Given the description of an element on the screen output the (x, y) to click on. 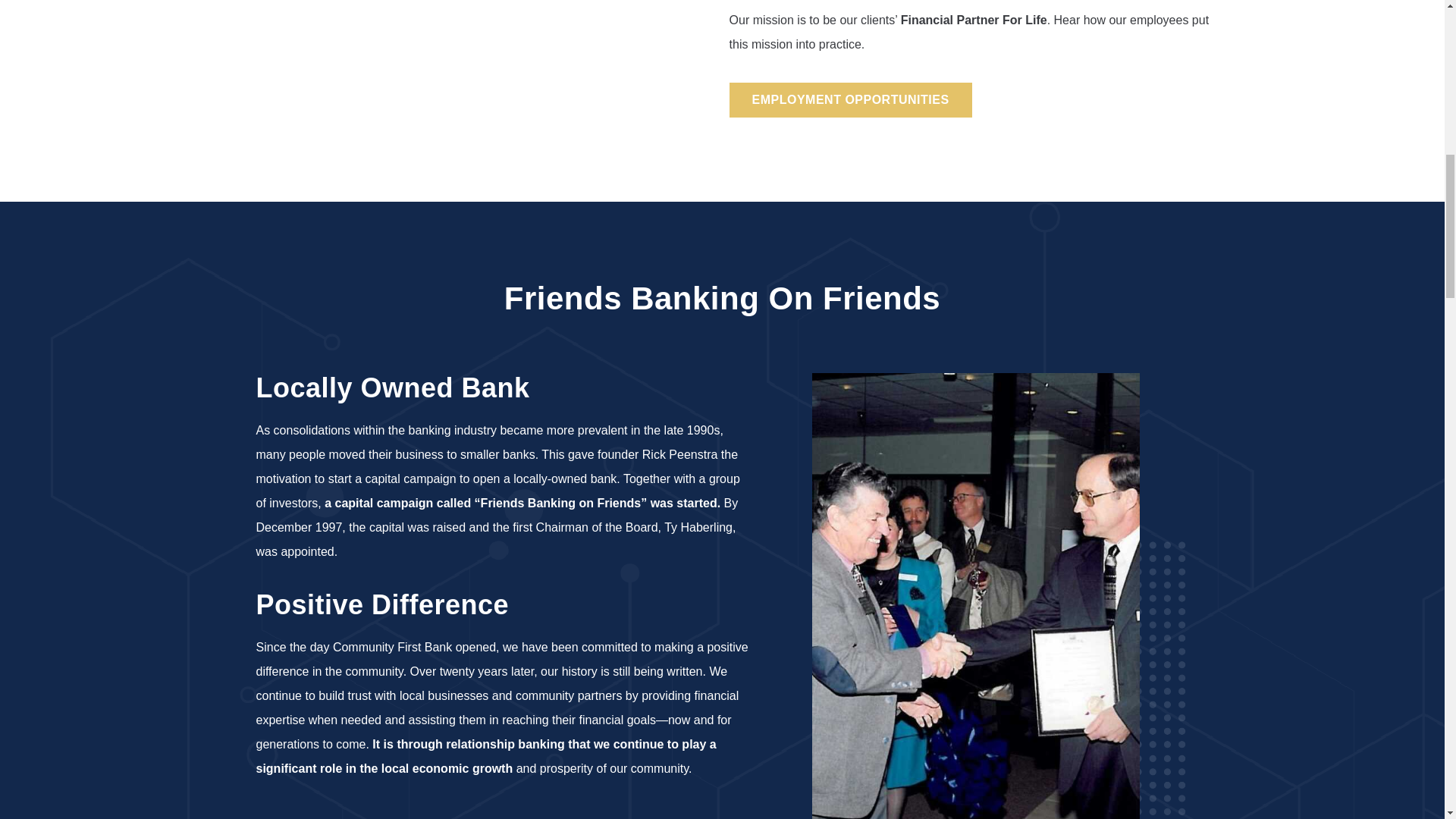
YouTube video player (458, 56)
